Given the description of an element on the screen output the (x, y) to click on. 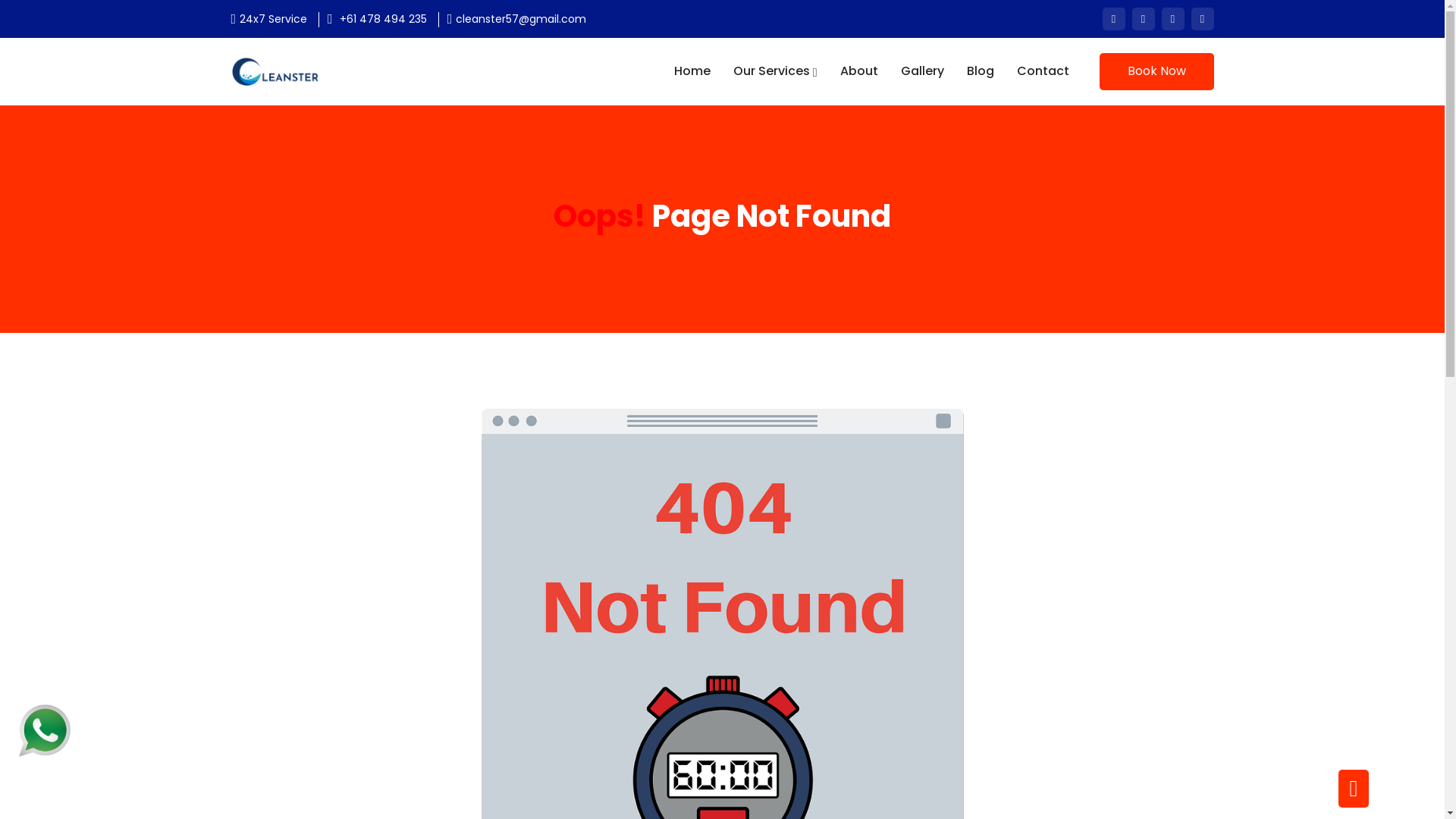
+61 478 494 235 Element type: text (382, 18)
Contact Element type: text (1042, 71)
Blog Element type: text (979, 71)
Home Element type: text (692, 71)
Gallery Element type: text (922, 71)
About Element type: text (859, 71)
Our Services Element type: text (775, 71)
Book Now Element type: text (1156, 71)
